Given the description of an element on the screen output the (x, y) to click on. 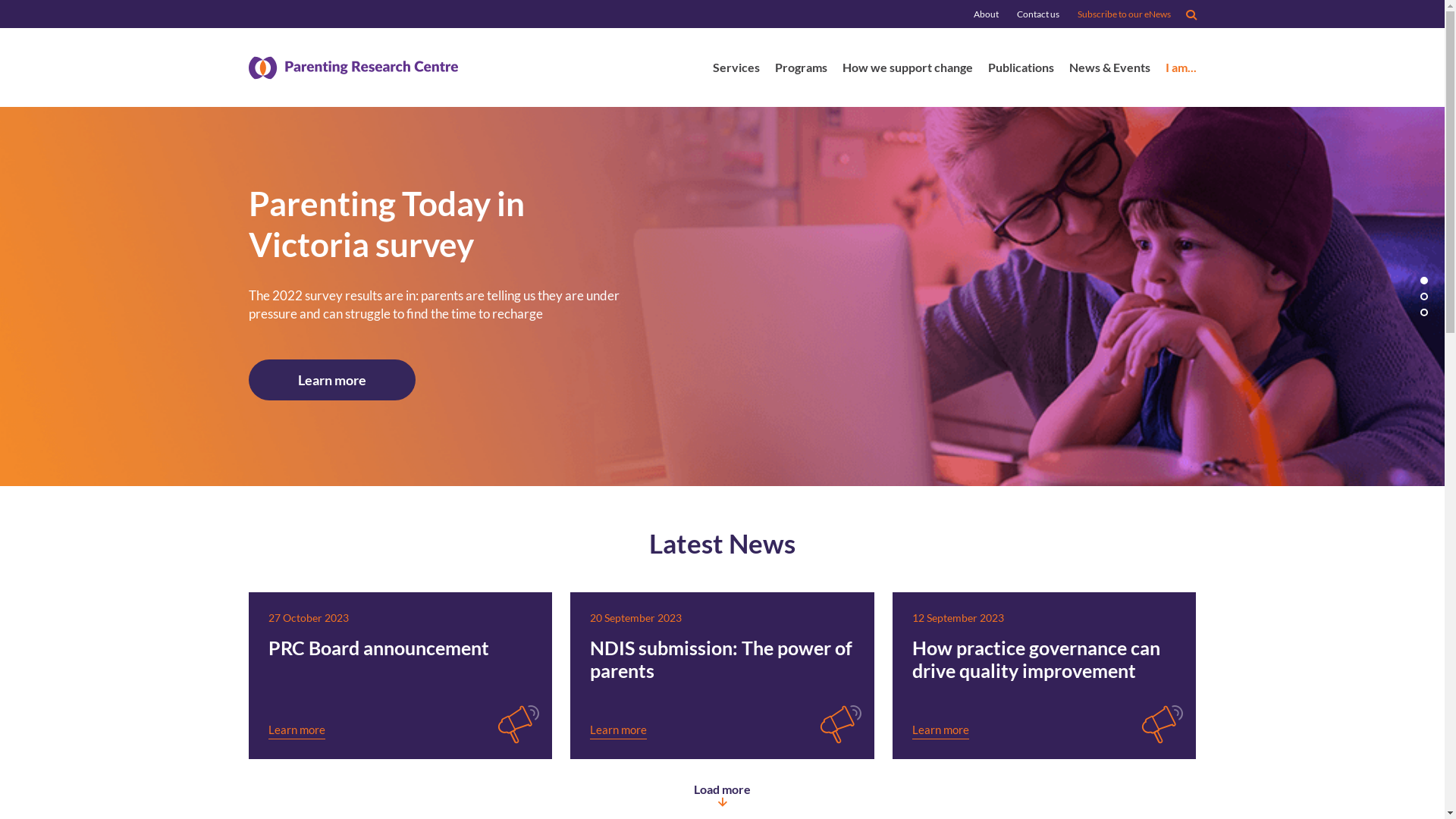
Learn more Element type: text (940, 729)
1 Element type: text (1423, 280)
Contact us Element type: text (1037, 13)
Learn more Element type: text (617, 729)
I am... Element type: text (1179, 68)
Subscribe to our eNews Element type: text (1123, 13)
News & Events Element type: text (1109, 68)
Learn more Element type: text (331, 379)
Learn more Element type: text (296, 729)
About Element type: text (985, 13)
Programs Element type: text (801, 68)
2 Element type: text (1423, 296)
Services Element type: text (735, 68)
3 Element type: text (1423, 312)
Publications Element type: text (1020, 68)
How we support change Element type: text (906, 68)
Load more Element type: text (721, 794)
